Given the description of an element on the screen output the (x, y) to click on. 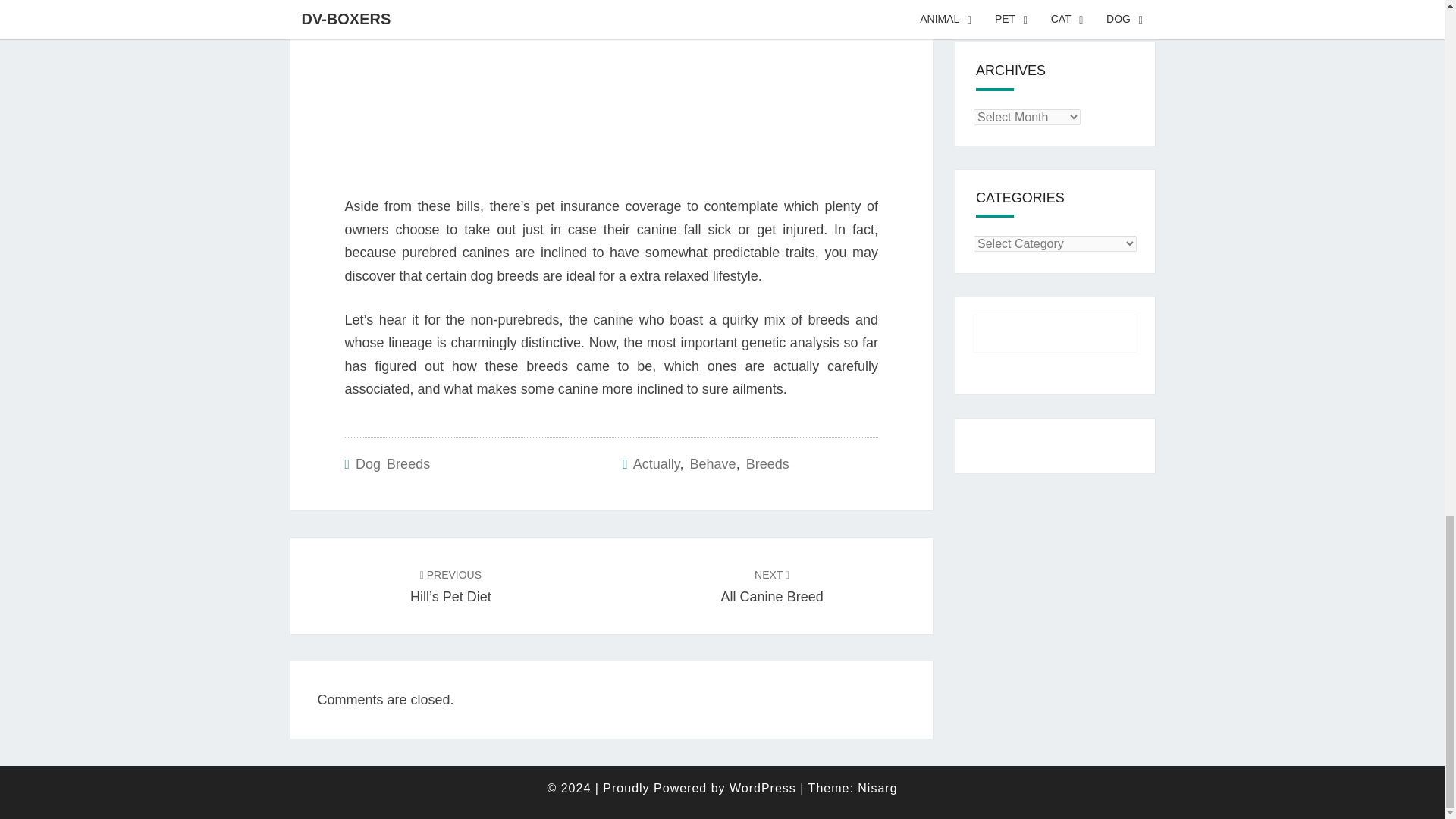
Behave (713, 463)
Actually (656, 463)
Dog Breeds (772, 585)
Breeds (392, 463)
